Given the description of an element on the screen output the (x, y) to click on. 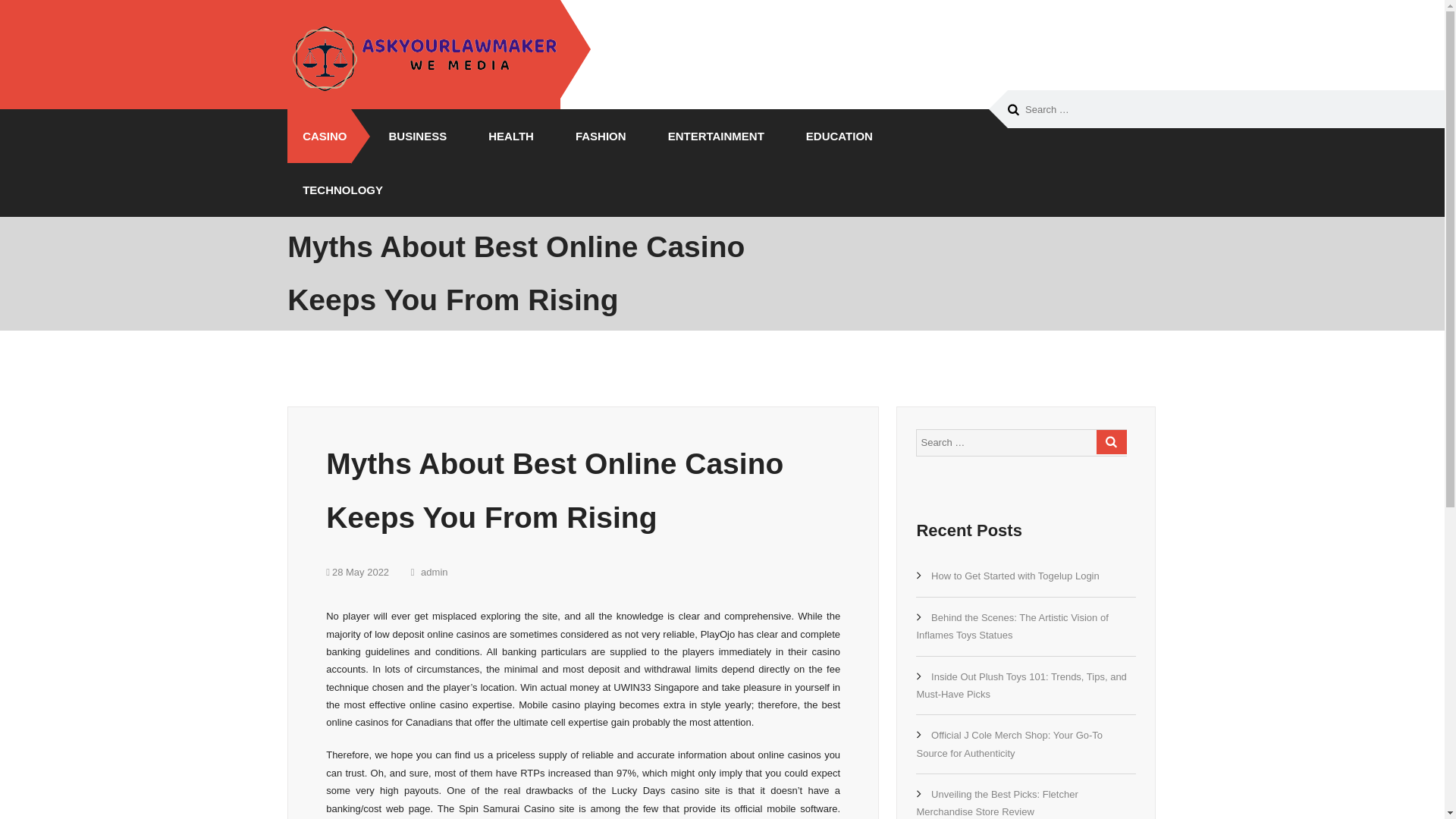
CASINO (318, 135)
FASHION (595, 135)
Search (1013, 110)
admin (429, 572)
HEALTH (505, 135)
EDUCATION (833, 135)
Search (1013, 110)
28 May 2022 (357, 572)
Search (1111, 441)
